Given the description of an element on the screen output the (x, y) to click on. 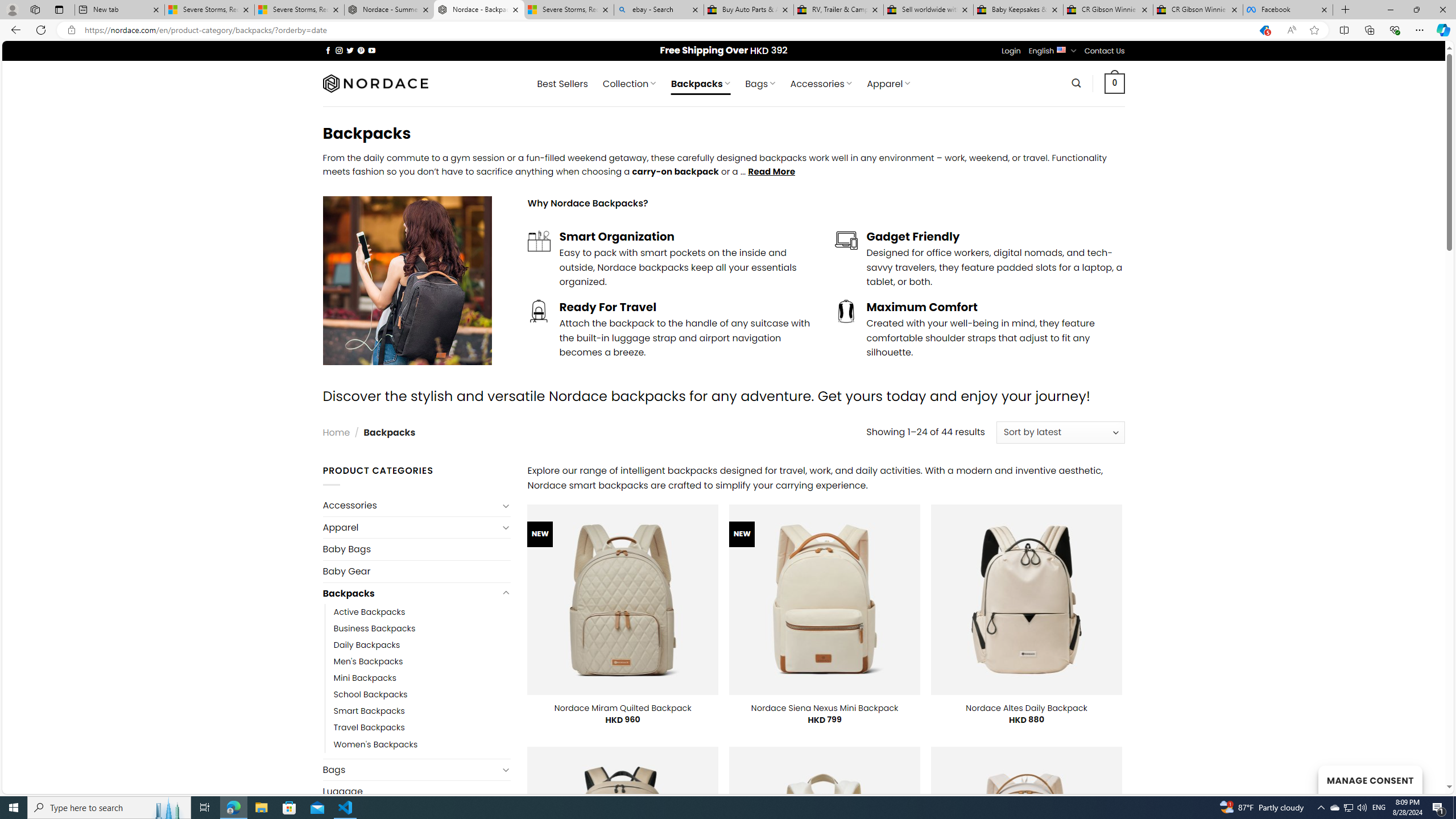
Follow on Facebook (327, 49)
Baby Gear (416, 571)
Nordace Altes Daily Backpack (1026, 708)
Facebook (1287, 9)
Women's Backpacks (375, 744)
